Given the description of an element on the screen output the (x, y) to click on. 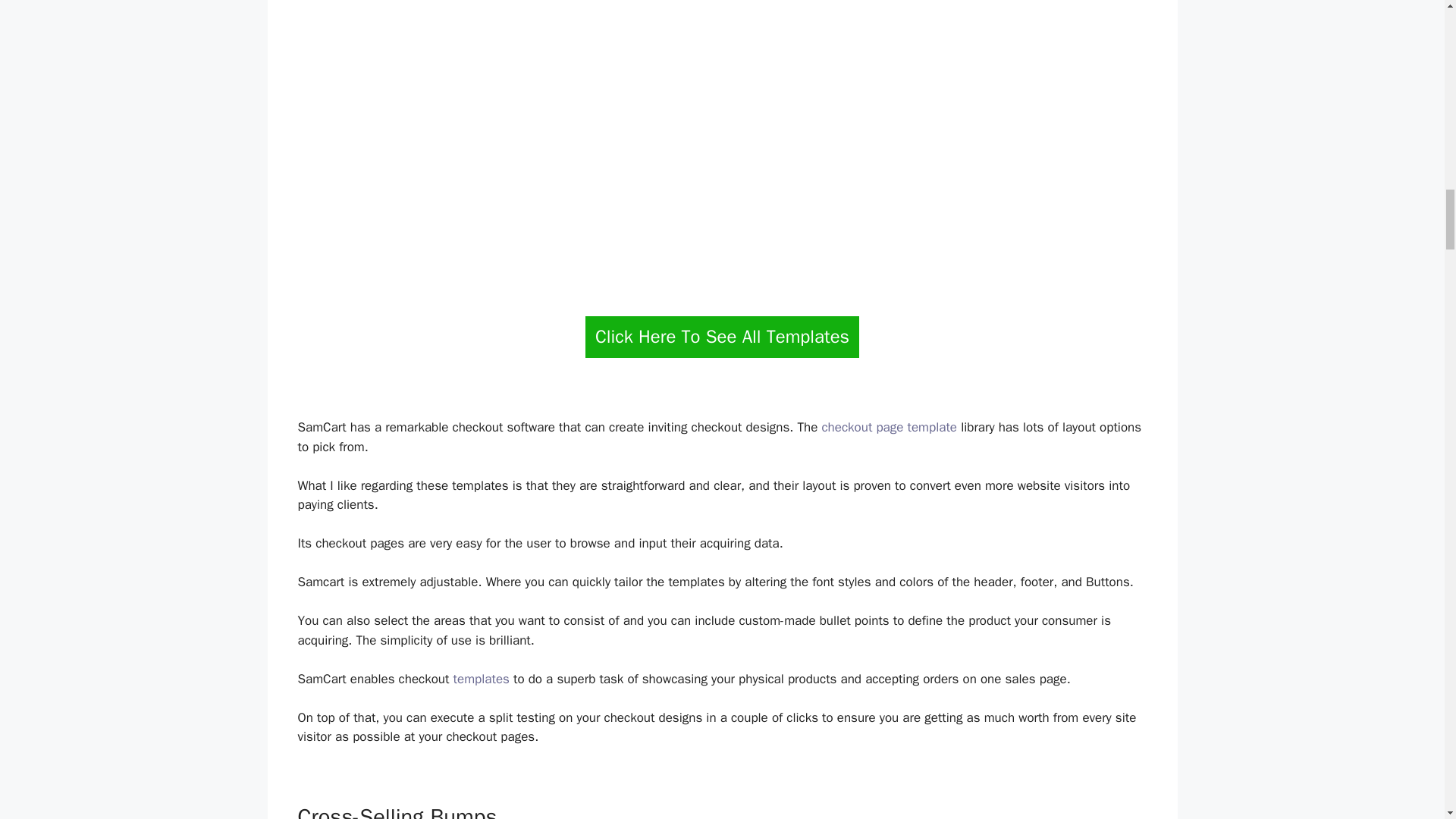
checkout page template (888, 426)
templates (480, 678)
Click Here To See All Templates (722, 336)
